Given the description of an element on the screen output the (x, y) to click on. 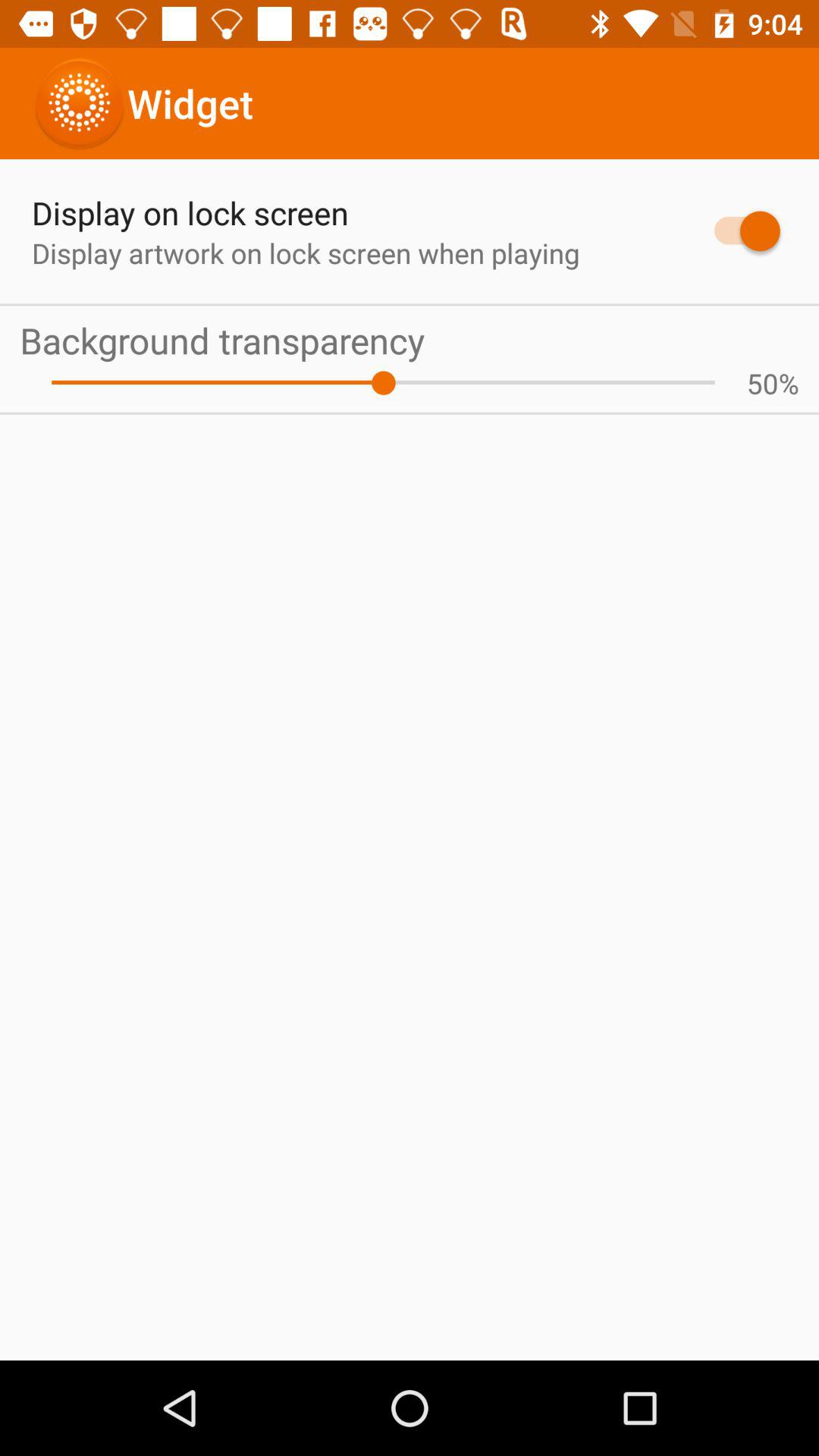
select % icon (788, 383)
